Given the description of an element on the screen output the (x, y) to click on. 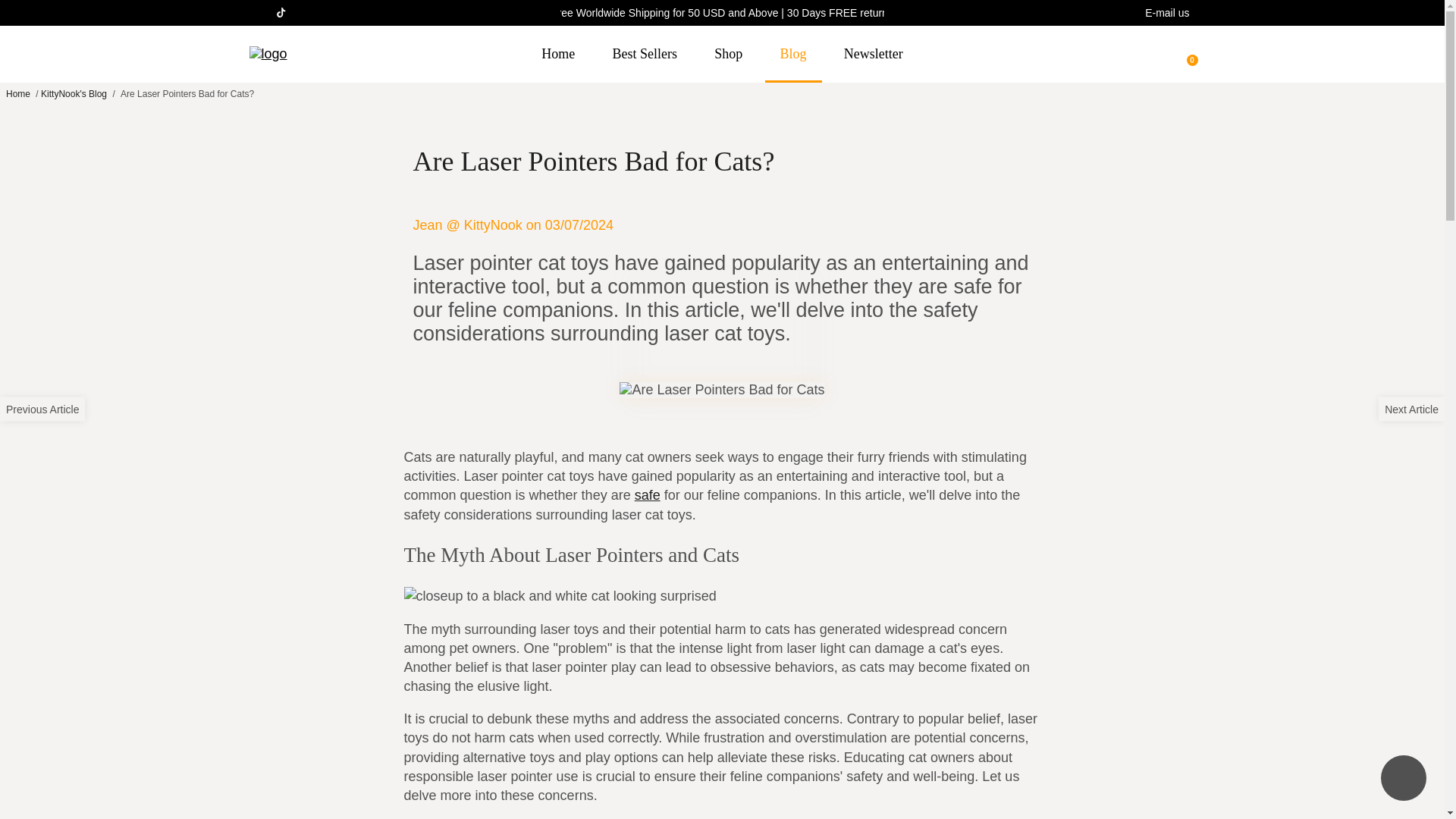
Home (17, 93)
Home (557, 53)
Blog (793, 53)
Roly-Poly 360 Automatic Laser Cat Toy (647, 494)
Newsletter (873, 53)
Home (17, 93)
safe (647, 494)
E-mail us (1166, 12)
Best Sellers (643, 53)
Shop (727, 53)
